Given the description of an element on the screen output the (x, y) to click on. 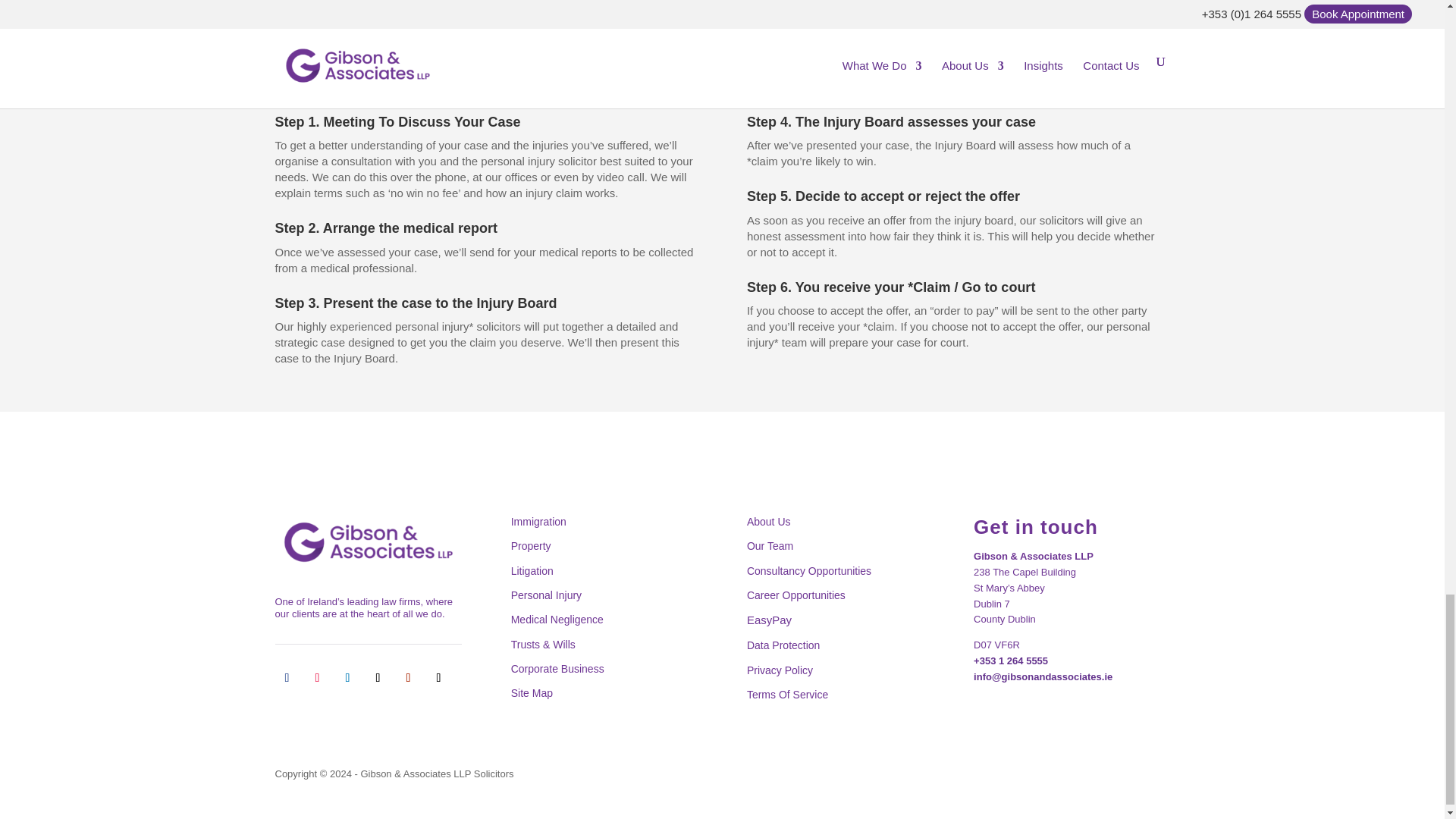
Follow on Youtube (408, 677)
Follow on LinkedIn (346, 677)
Follow on Instagram (316, 677)
Follow on X (377, 677)
Follow on TikTok (437, 677)
Follow on Facebook (286, 677)
Gibson-Associates-LLP-Ireland-300x93 (368, 541)
